Given the description of an element on the screen output the (x, y) to click on. 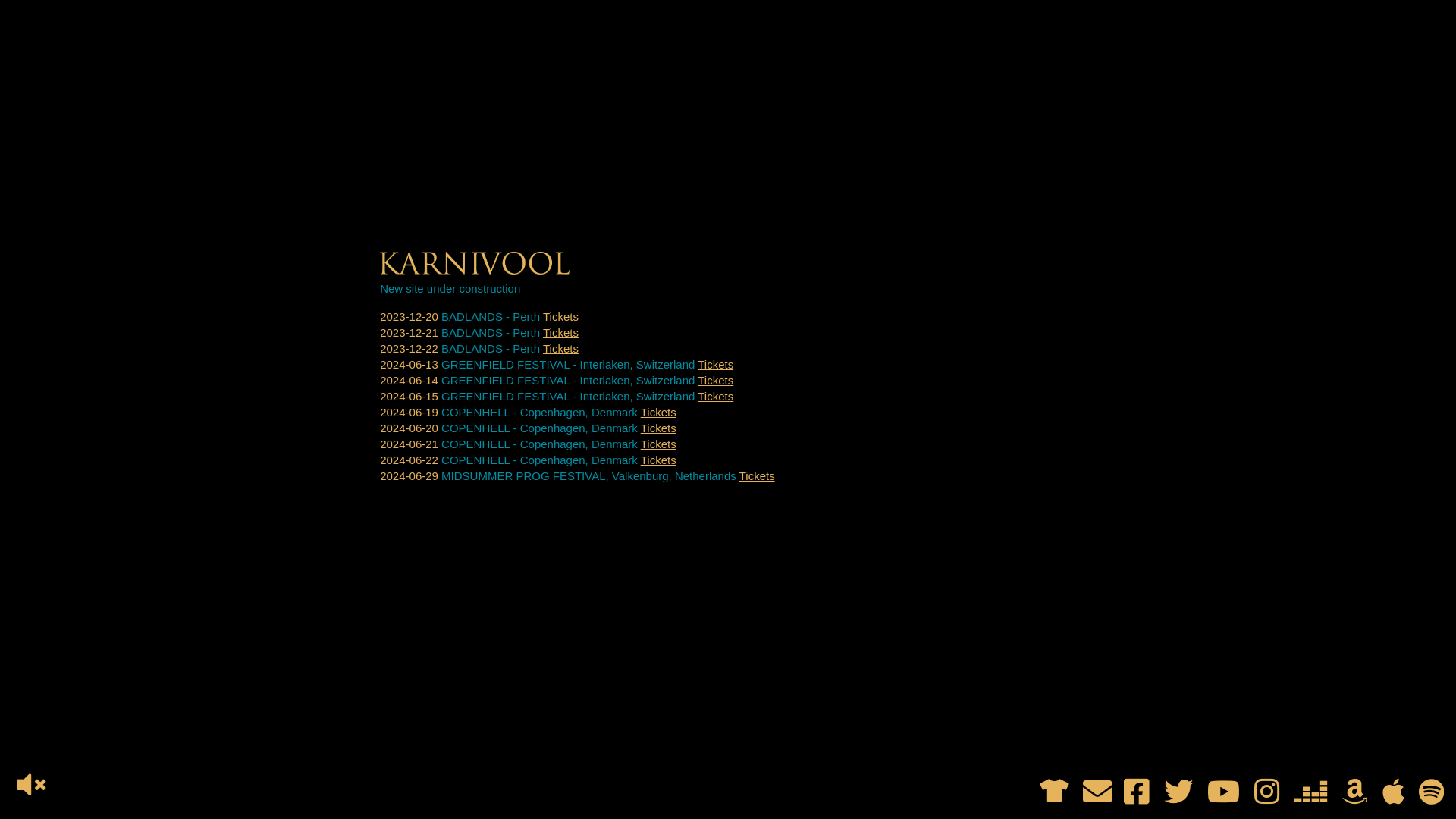
Tickets Element type: text (658, 427)
Tickets Element type: text (715, 379)
Tickets Element type: text (757, 475)
Tickets Element type: text (658, 411)
Tickets Element type: text (560, 348)
Tickets Element type: text (658, 459)
Tickets Element type: text (560, 316)
Tickets Element type: text (715, 363)
Tickets Element type: text (560, 332)
Tickets Element type: text (658, 443)
Tickets Element type: text (715, 395)
